Given the description of an element on the screen output the (x, y) to click on. 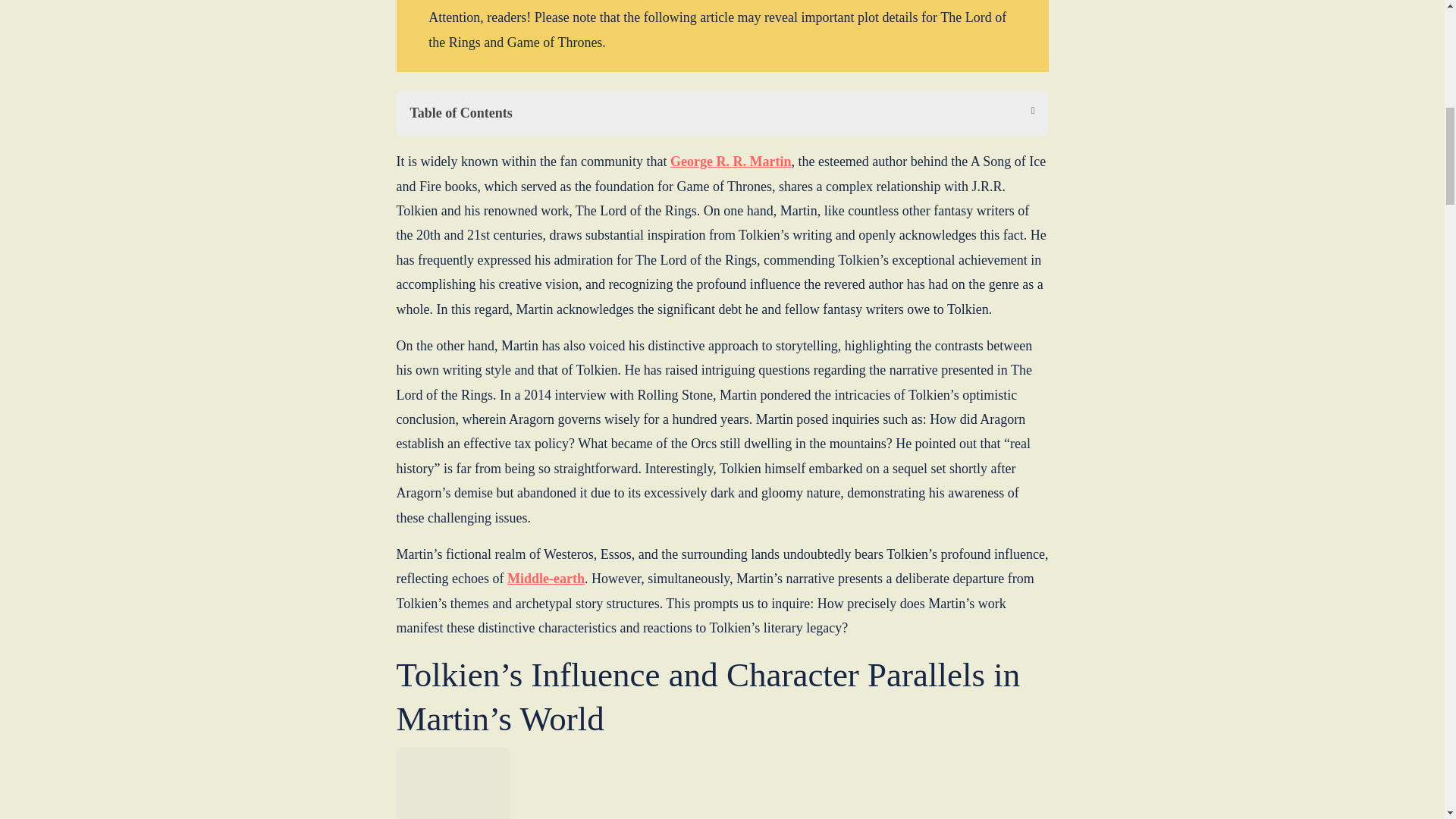
George R. R. Martin (729, 161)
Middle-earth (545, 578)
Table of Contents (722, 112)
